Given the description of an element on the screen output the (x, y) to click on. 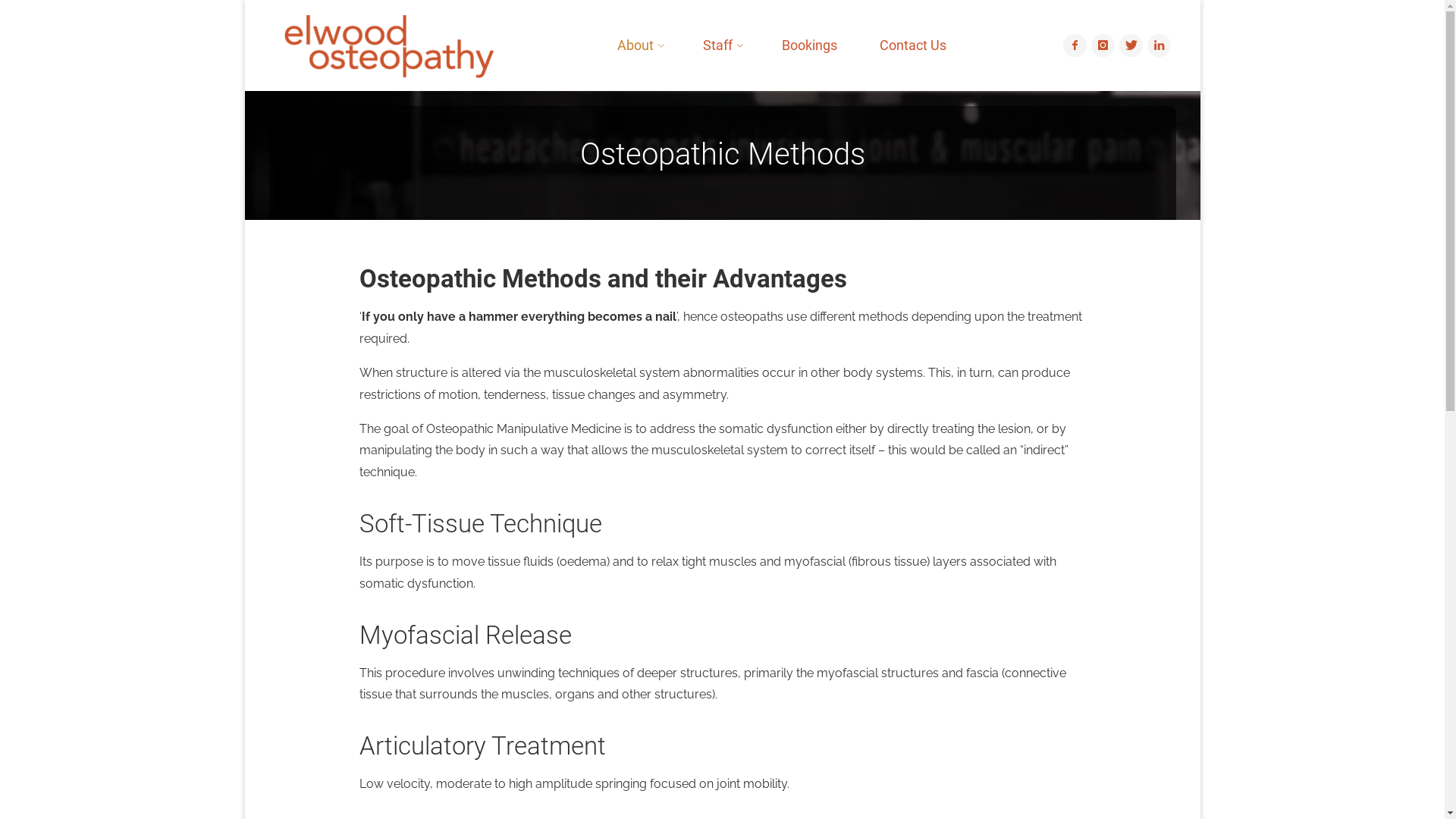
Bookings Element type: text (809, 45)
Contact Us Element type: text (912, 45)
About Element type: text (638, 45)
Facebook Element type: hover (1074, 45)
Twitter Element type: hover (1130, 45)
linked in Element type: hover (1158, 45)
Instagram Element type: hover (1102, 45)
Staff Element type: text (720, 45)
Elwood Osteopathy Element type: hover (387, 44)
